Given the description of an element on the screen output the (x, y) to click on. 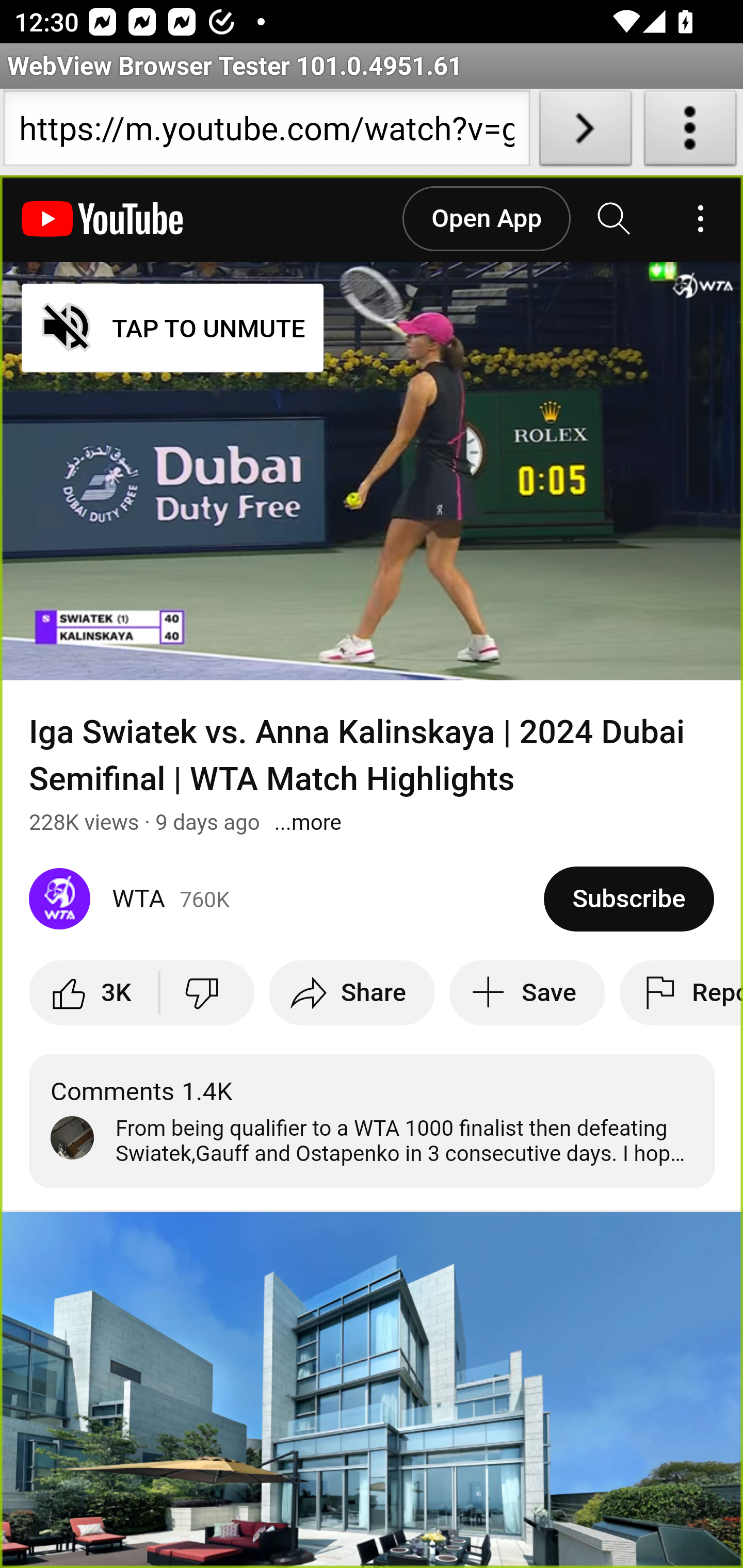
https://m.youtube.com/watch?v=gXV_x0-JzNMWarriors (266, 132)
Load URL (585, 132)
About WebView (690, 132)
YouTube (102, 219)
Search YouTube (614, 219)
Account (700, 219)
Open App (485, 218)
YouTube Video Player TAP TO UNMUTE (371, 470)
TAP TO UNMUTE (173, 328)
Show more (307, 822)
Subscribe to WTA. (627, 898)
WTA (286, 899)
like this video along with 3,088 other people (94, 992)
Dislike this video (206, 992)
Share (351, 992)
Save to playlist (527, 992)
Comments (372, 1121)
